Given the description of an element on the screen output the (x, y) to click on. 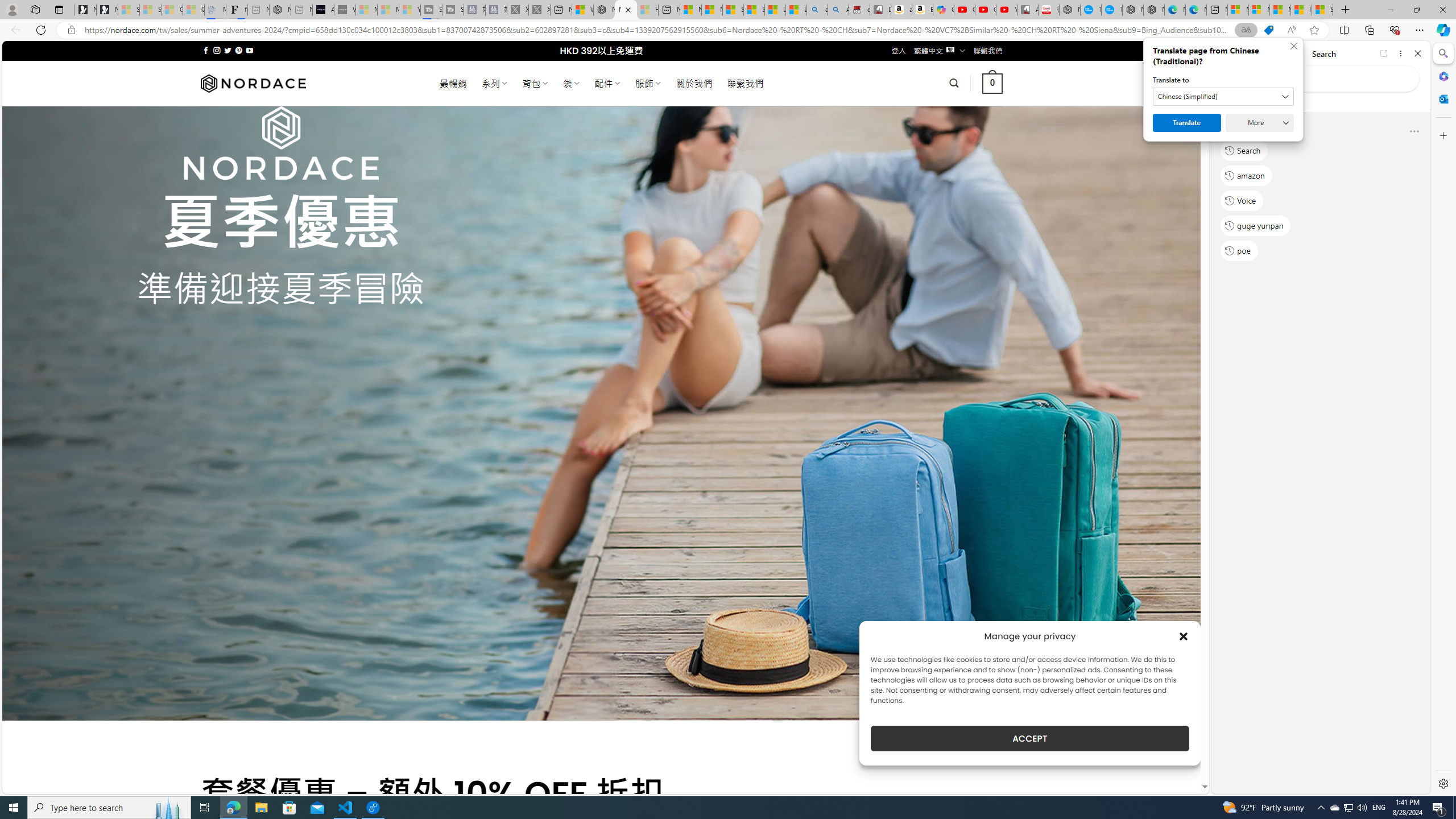
Follow on Instagram (216, 50)
Voice (1241, 200)
The most popular Google 'how to' searches (1111, 9)
This site has coupons! Shopping in Microsoft Edge (1268, 29)
Nordace - Nordace has arrived Hong Kong (1153, 9)
